Given the description of an element on the screen output the (x, y) to click on. 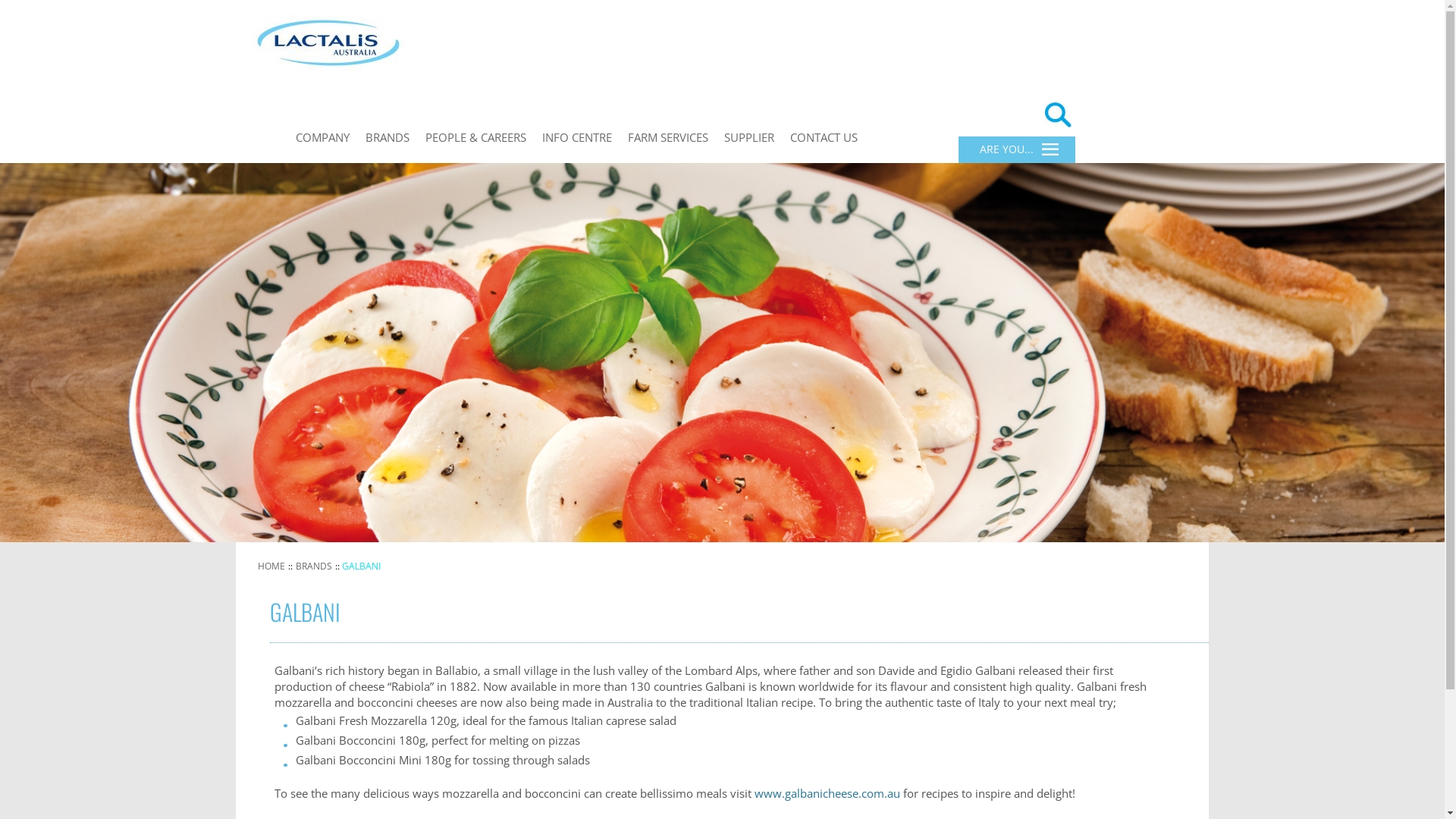
COMPANY Element type: text (322, 137)
BRANDS Element type: text (387, 137)
PEOPLE & CAREERS Element type: text (475, 137)
SUPPLIER Element type: text (749, 137)
www.galbanicheese.com.au Element type: text (827, 792)
SUPPLIER CENTRE Element type: text (761, 171)
MILK PORTAL Element type: text (665, 171)
Skip to content Element type: text (633, 127)
Search Element type: text (14, 14)
HOME Element type: text (271, 565)
GALBANI Element type: text (361, 565)
BRANDS Element type: text (313, 565)
FARM SERVICES Element type: text (667, 137)
INFO CENTRE Element type: text (576, 137)
SUSTAINABILITY Element type: text (579, 171)
WHO WE ARE Element type: text (333, 171)
OUR EXECUTIVE COMMITTEE Element type: text (462, 167)
CONTACT US Element type: text (823, 137)
